Given the description of an element on the screen output the (x, y) to click on. 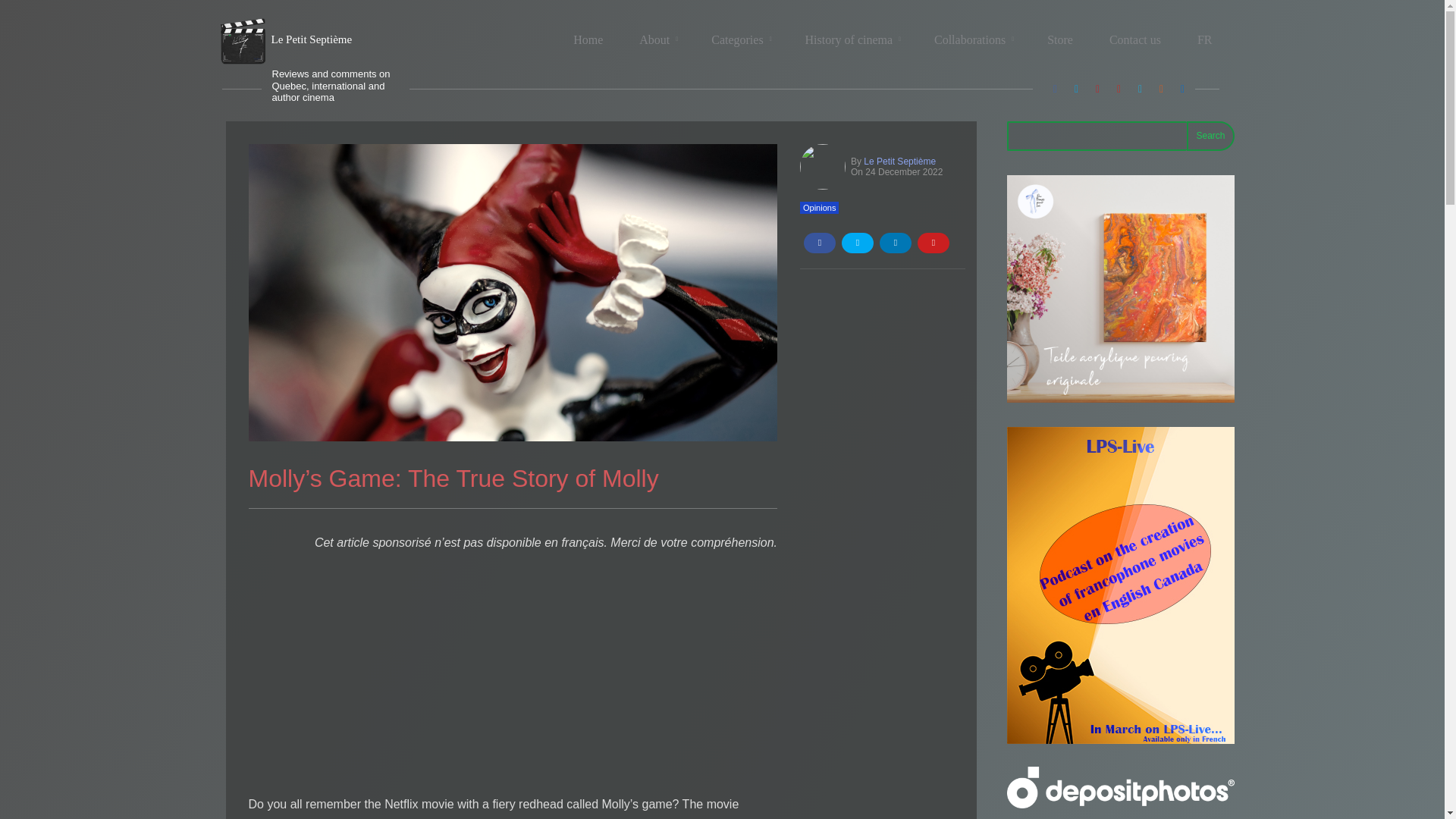
Categories (739, 39)
Home (587, 39)
Share on pinterest-p (933, 242)
About (657, 39)
FR (1204, 39)
Share on twitter (857, 242)
History of cinema (851, 39)
Share on facebook-f (819, 242)
Share on linkedin-in (895, 242)
